Given the description of an element on the screen output the (x, y) to click on. 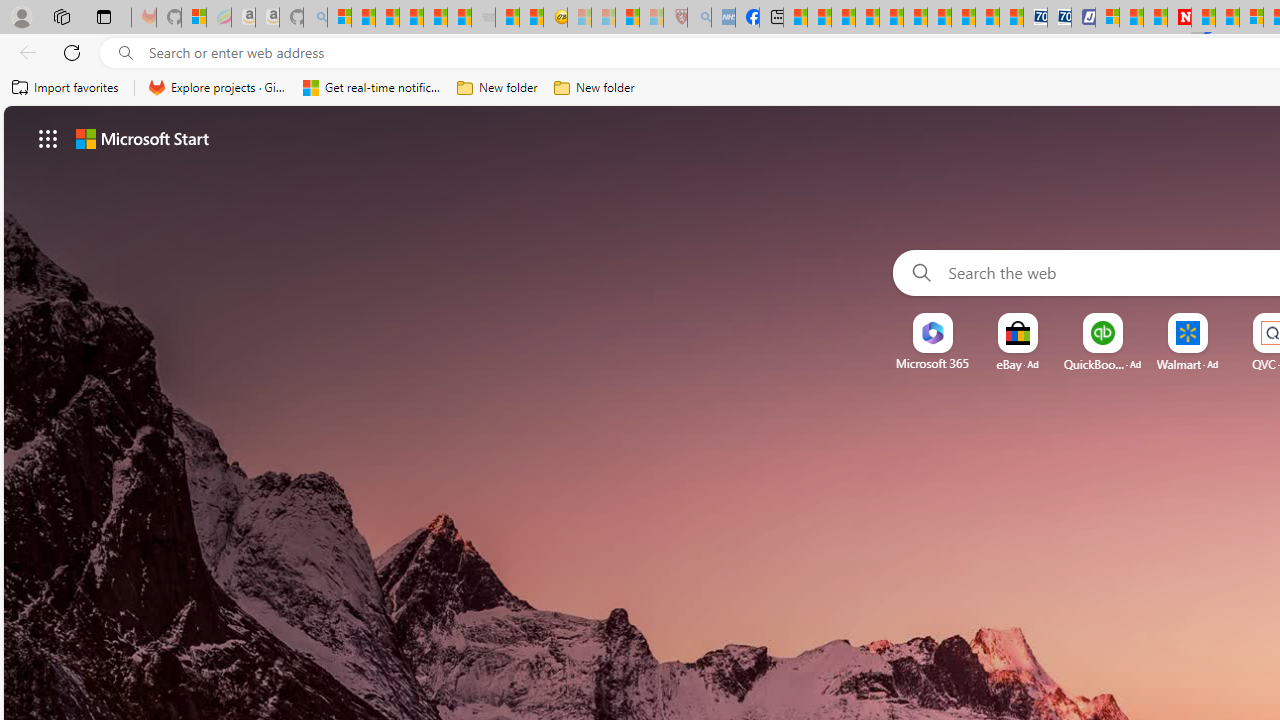
Microsoft account | Privacy (1106, 17)
Robert H. Shmerling, MD - Harvard Health - Sleeping (675, 17)
Ad (1212, 363)
App launcher (47, 138)
